Given the description of an element on the screen output the (x, y) to click on. 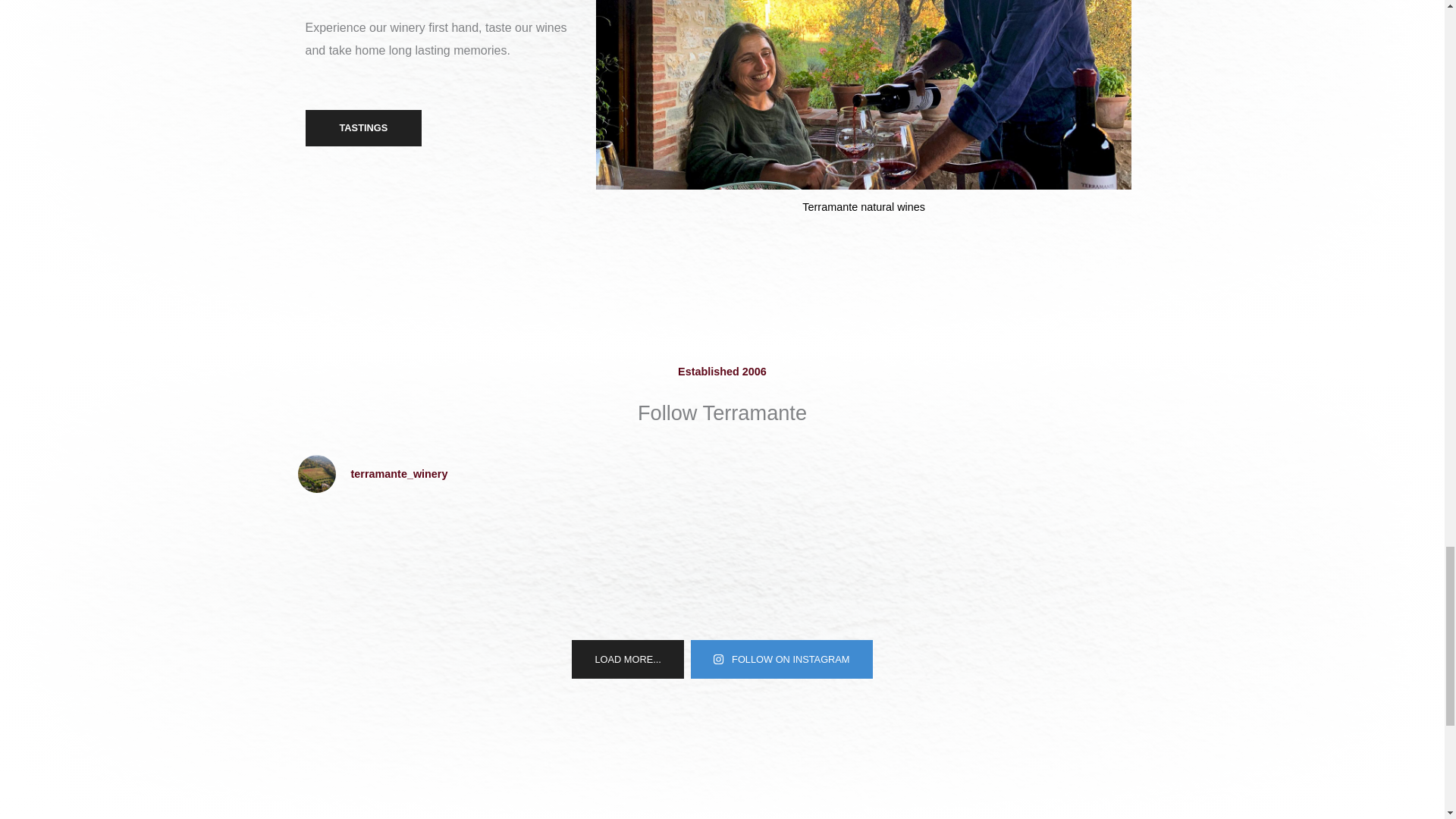
FOLLOW ON INSTAGRAM (781, 658)
LOAD MORE... (627, 658)
TASTINGS (363, 127)
